Given the description of an element on the screen output the (x, y) to click on. 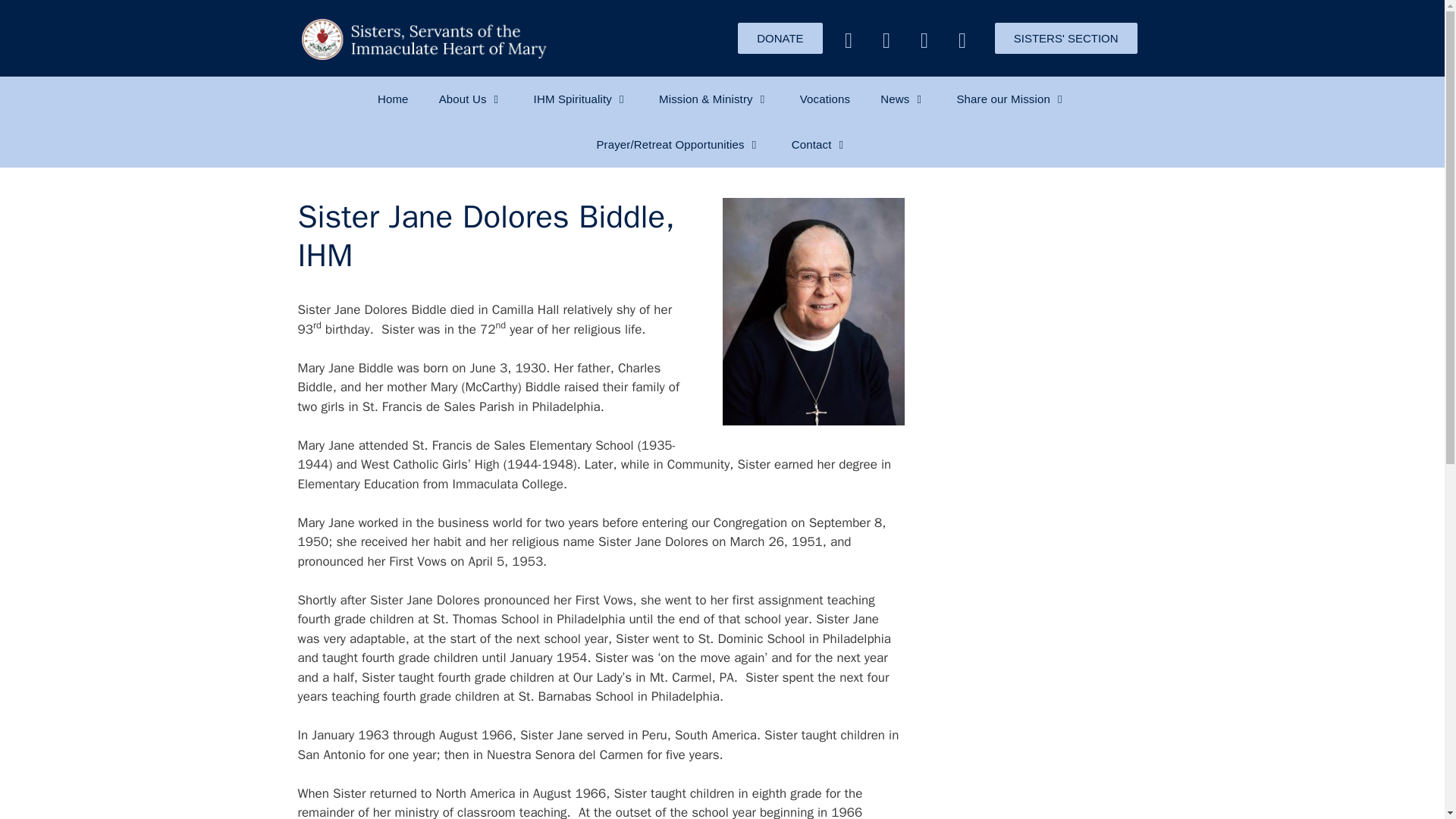
About Us (470, 99)
IHM Spirituality (580, 99)
Home (392, 99)
DONATE (780, 38)
SISTERS' SECTION (1065, 38)
